Given the description of an element on the screen output the (x, y) to click on. 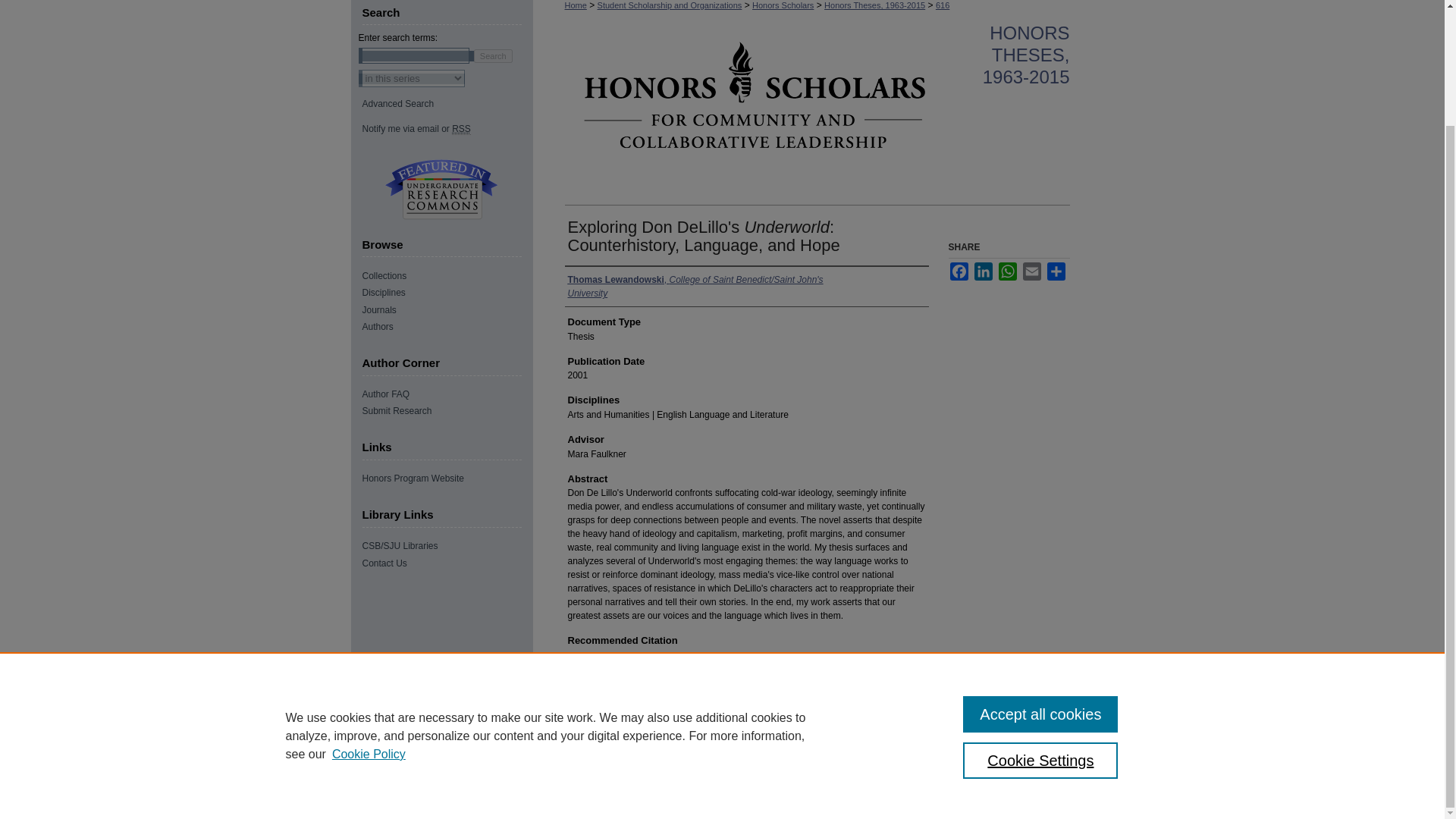
Author FAQ (447, 394)
Home (575, 4)
Browse Journals (447, 309)
Browse by Disciplines (447, 292)
Really Simple Syndication (460, 129)
616 (942, 4)
Search (493, 55)
Search (493, 55)
Student Scholarship and Organizations (669, 4)
Notify me via email or RSS (447, 128)
Search (493, 55)
Journals (447, 309)
Disciplines (447, 292)
WhatsApp (1006, 271)
Facebook (958, 271)
